Given the description of an element on the screen output the (x, y) to click on. 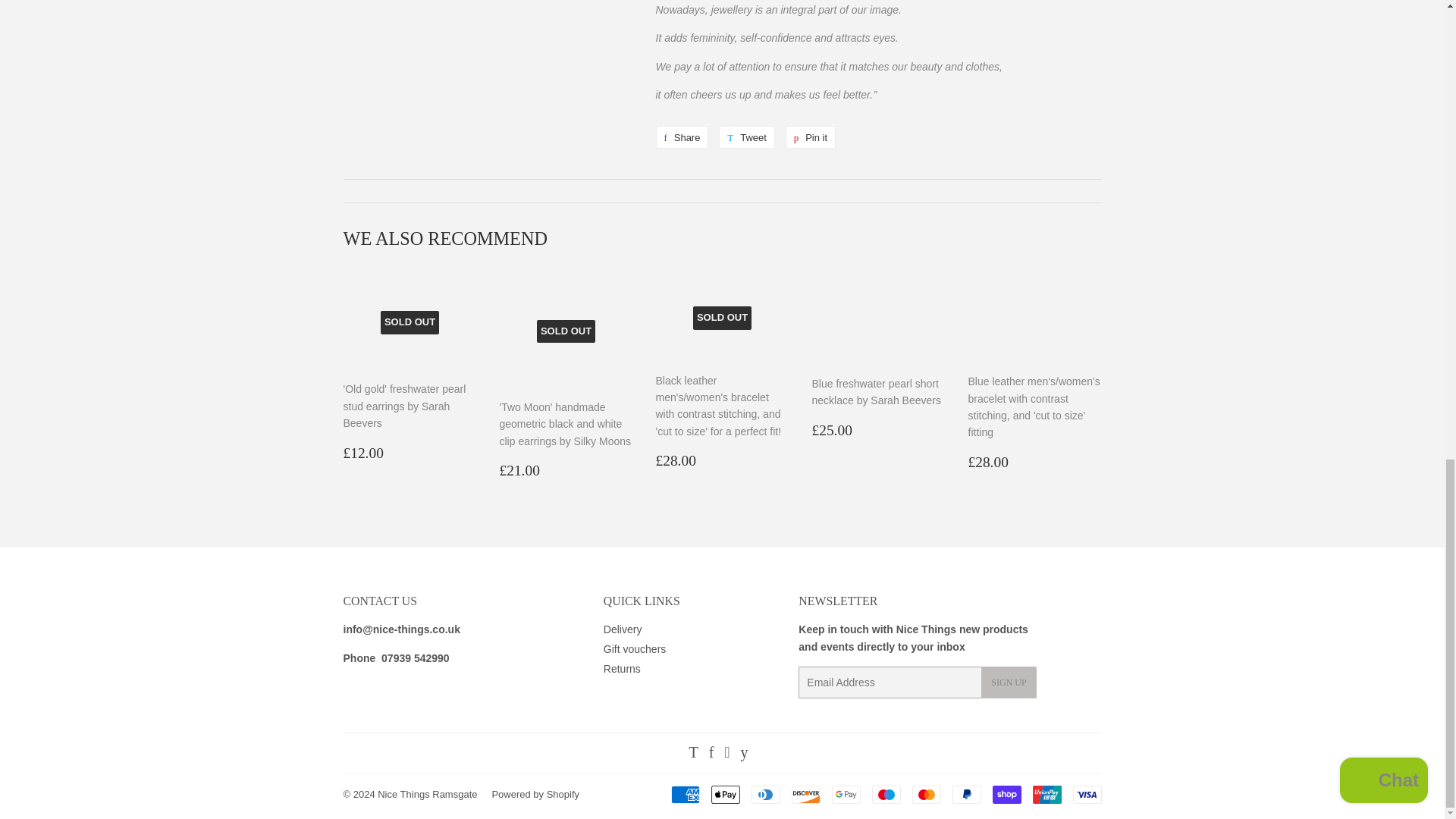
Visa (1085, 794)
Diners Club (764, 794)
American Express (683, 794)
Google Pay (845, 794)
Shop Pay (1005, 794)
Apple Pay (725, 794)
Tweet on Twitter (746, 137)
Pin on Pinterest (810, 137)
Maestro (886, 794)
Union Pay (1046, 794)
